Given the description of an element on the screen output the (x, y) to click on. 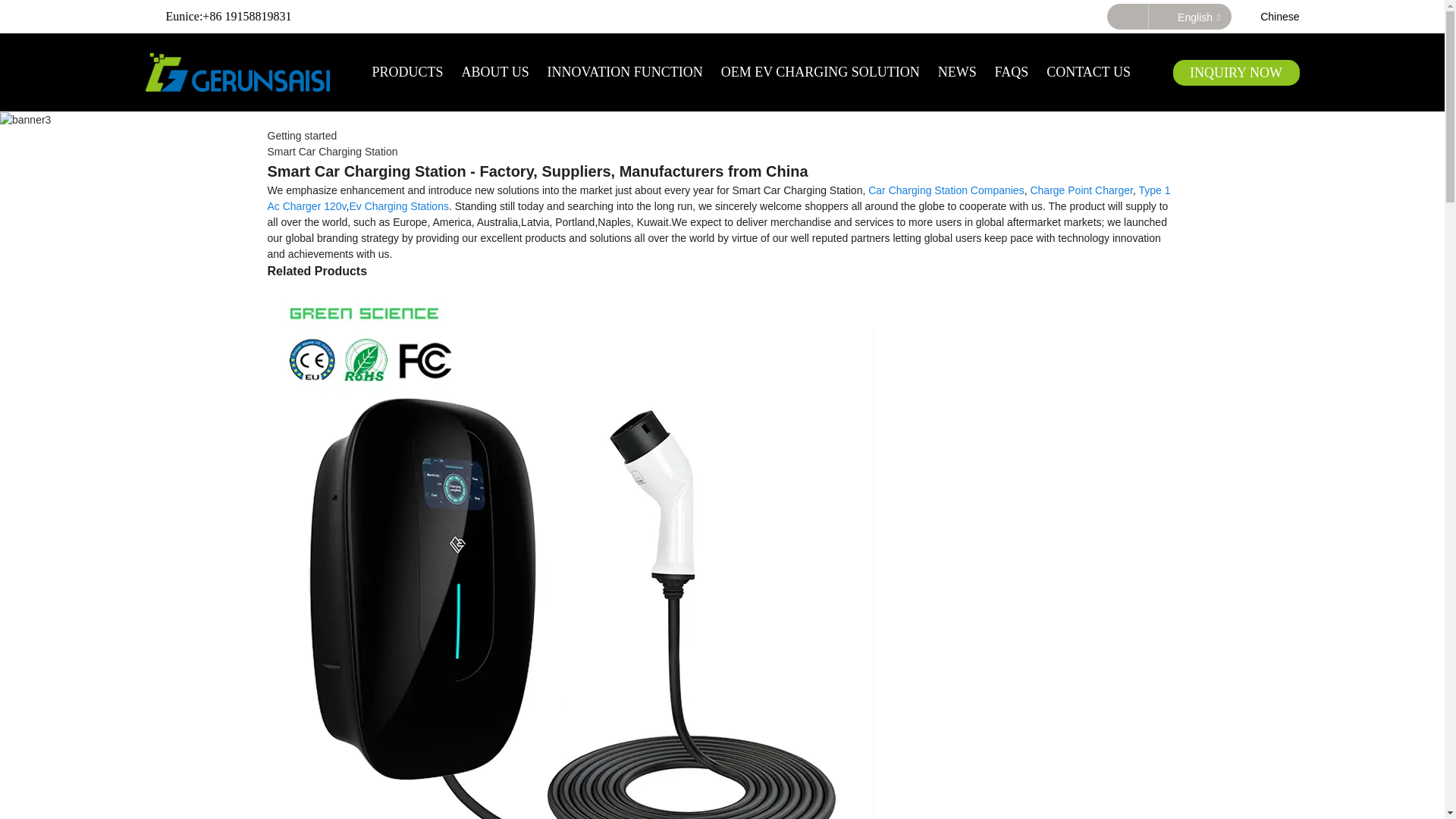
ABOUT US (493, 71)
Charge Point Charger (1080, 190)
Smart Car Charging Station (331, 151)
Charge Point Charger (1080, 190)
Ev Charging Stations (398, 205)
English (1184, 16)
Type 1 Ac Charger 120v (718, 198)
Ev Charging Stations (398, 205)
CONTACT US (1088, 71)
OEM EV CHARGING SOLUTION (820, 71)
Type 1 Ac Charger 120v (718, 198)
INNOVATION FUNCTION (625, 71)
PRODUCTS (408, 71)
Chinese (1264, 16)
